Given the description of an element on the screen output the (x, y) to click on. 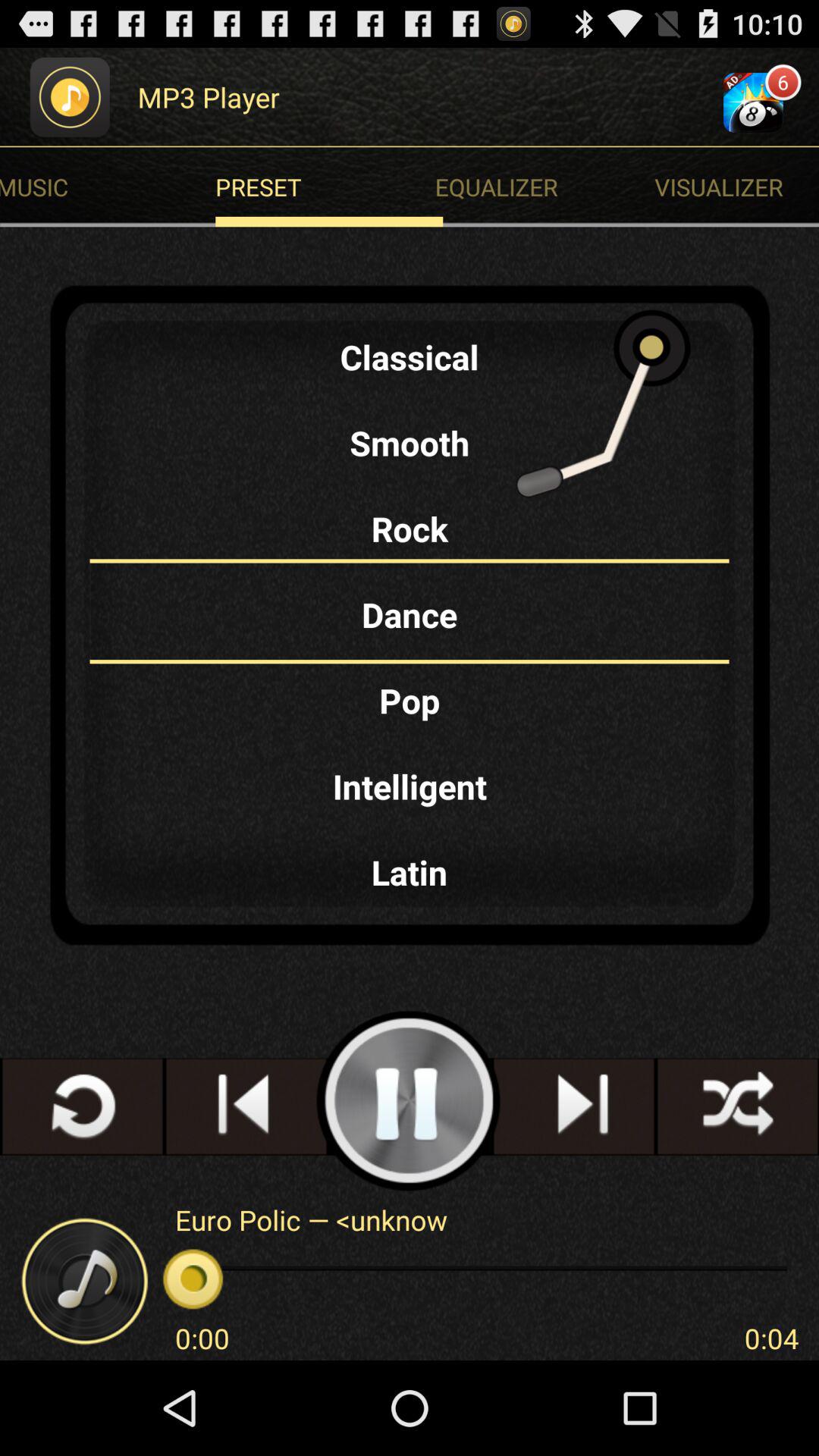
press the equalizer (548, 186)
